Given the description of an element on the screen output the (x, y) to click on. 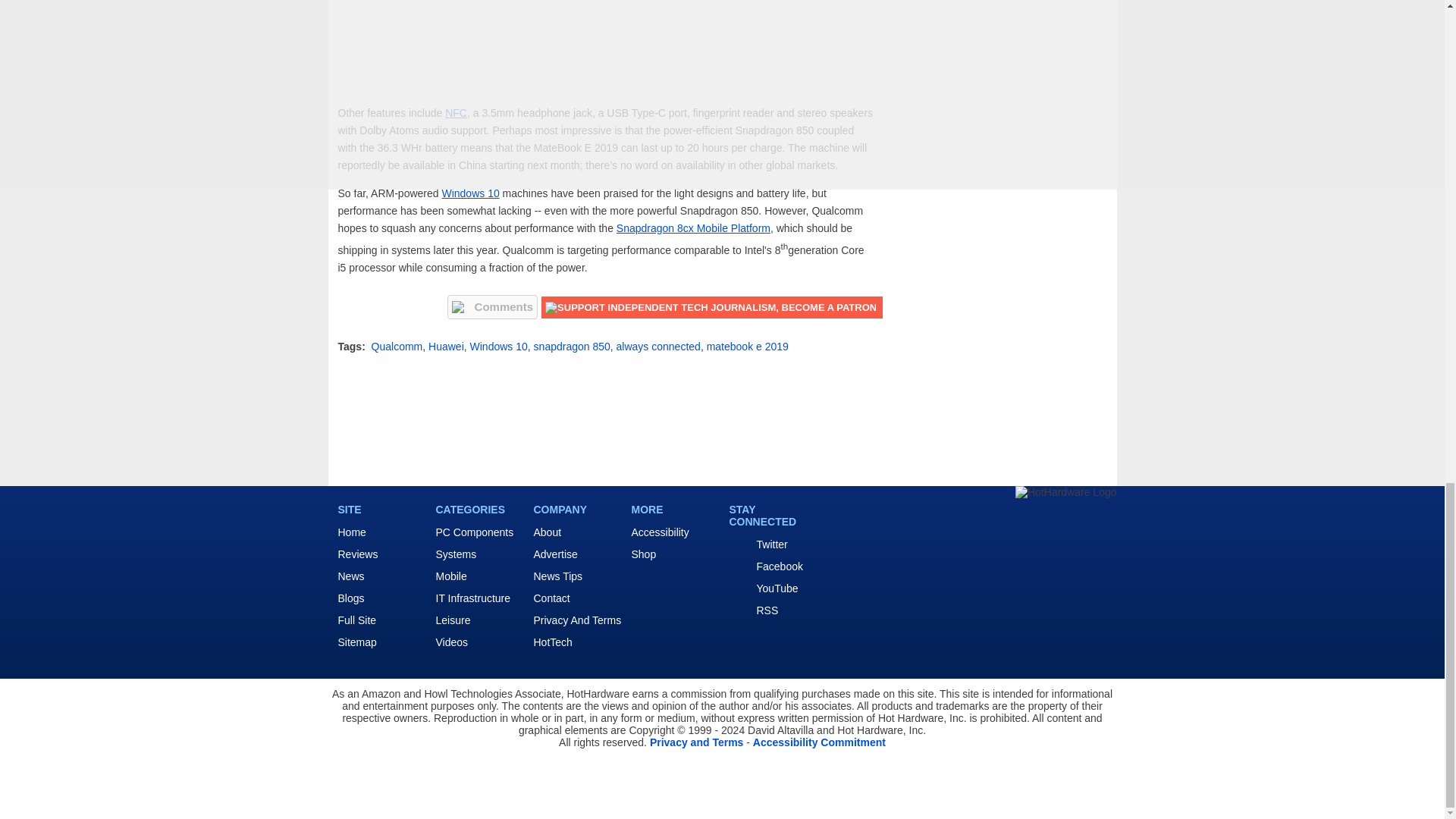
Comments (492, 306)
